Given the description of an element on the screen output the (x, y) to click on. 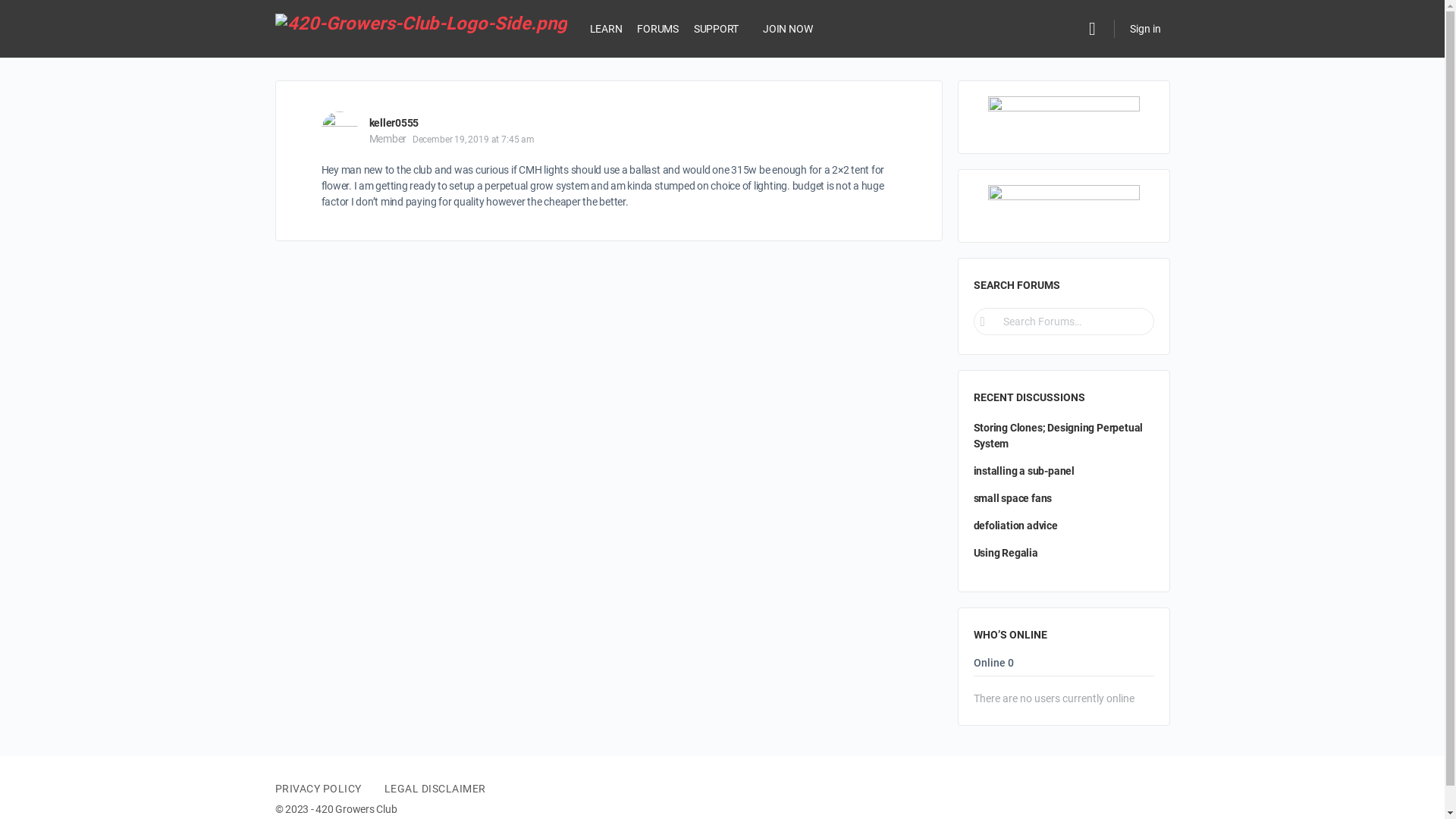
keller0555 Element type: text (393, 122)
Using Regalia Element type: text (1005, 552)
defoliation advice Element type: text (1015, 525)
PRIVACY POLICY Element type: text (317, 788)
Online 0 Element type: text (993, 666)
View keller0555's profile Element type: hover (339, 129)
small space fans Element type: text (1012, 498)
LEGAL DISCLAIMER Element type: text (434, 788)
FORUMS Element type: text (657, 28)
SUPPORT Element type: text (715, 28)
installing a sub-panel Element type: text (1023, 470)
JOIN NOW Element type: text (787, 28)
Storing Clones; Designing Perpetual System Element type: text (1058, 435)
Sign in Element type: text (1145, 28)
LEARN Element type: text (605, 28)
